Given the description of an element on the screen output the (x, y) to click on. 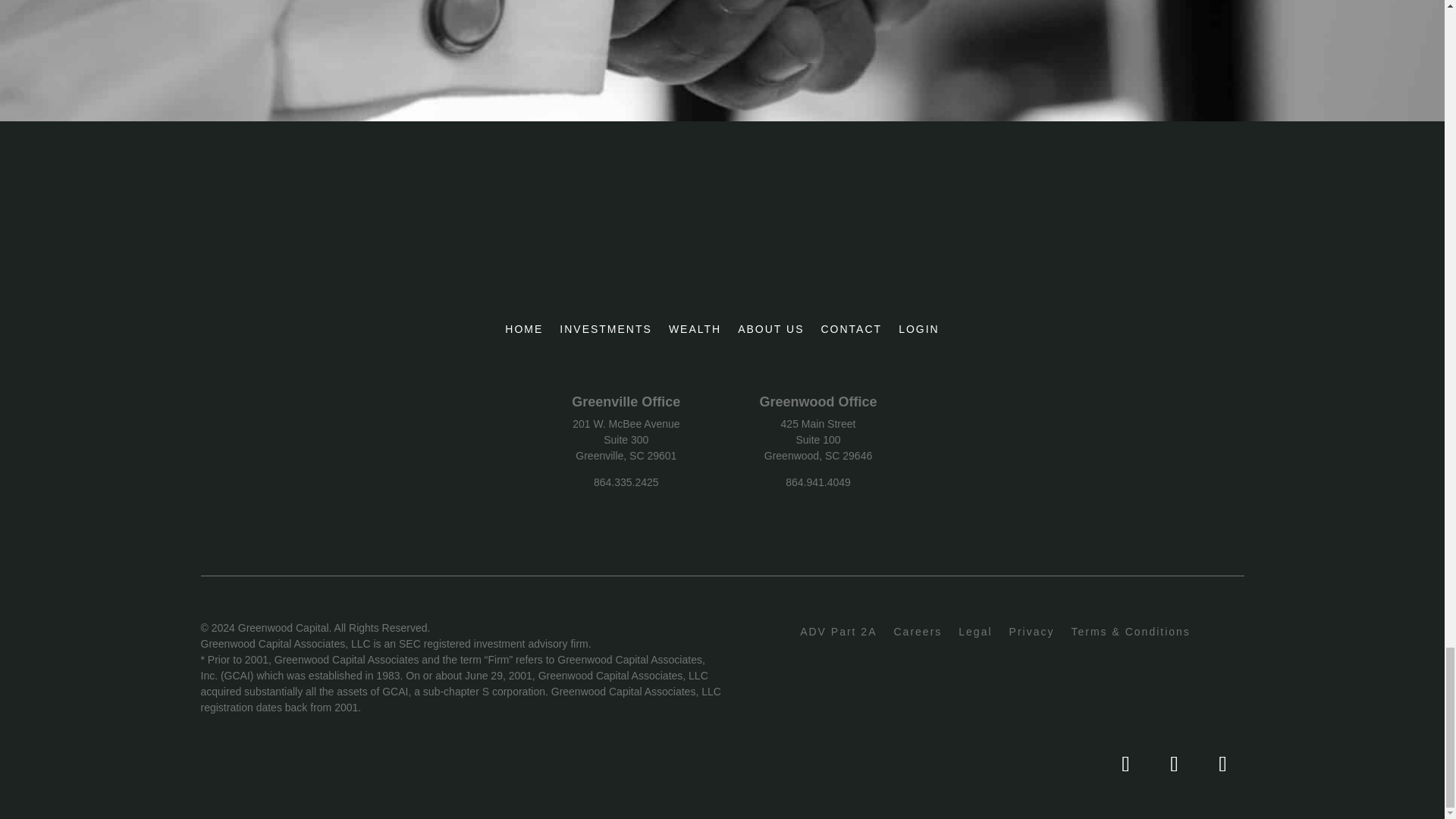
Follow on LinkedIn (1125, 763)
Follow on Facebook (1174, 763)
gwc-40-logo-white-hc (738, 259)
Follow on Instagram (1222, 763)
